Given the description of an element on the screen output the (x, y) to click on. 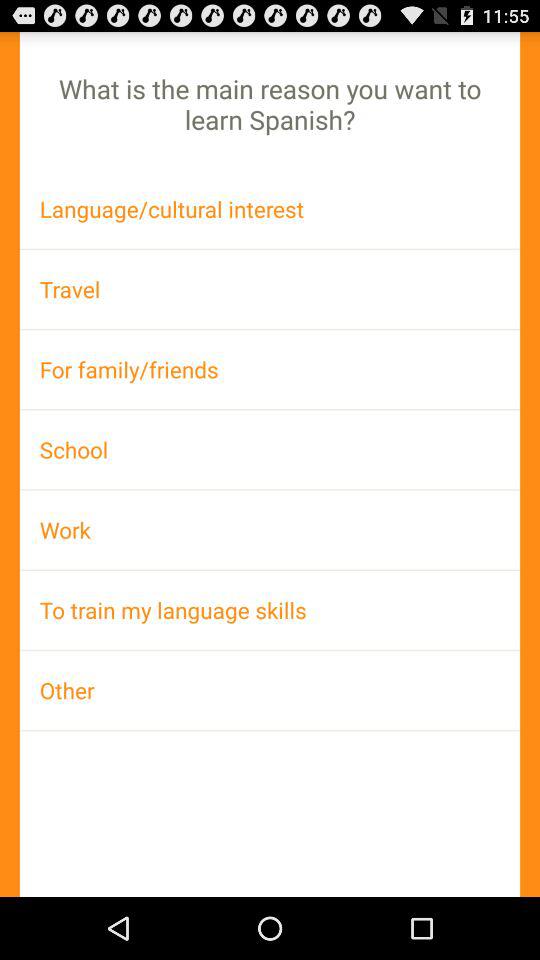
turn off the language/cultural interest (269, 208)
